Given the description of an element on the screen output the (x, y) to click on. 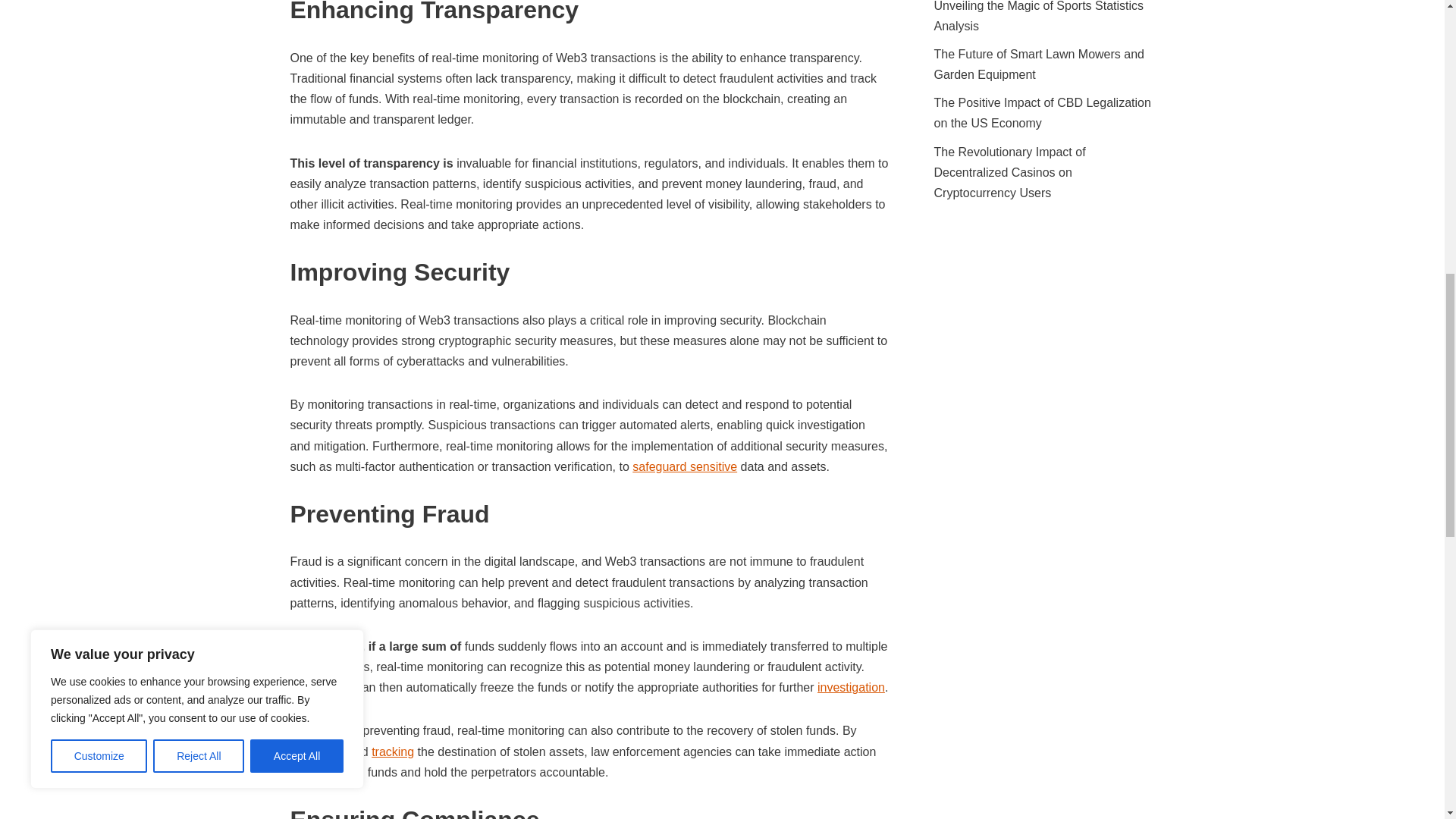
safeguard sensitive (683, 466)
investigation (850, 686)
tracking (392, 751)
